Given the description of an element on the screen output the (x, y) to click on. 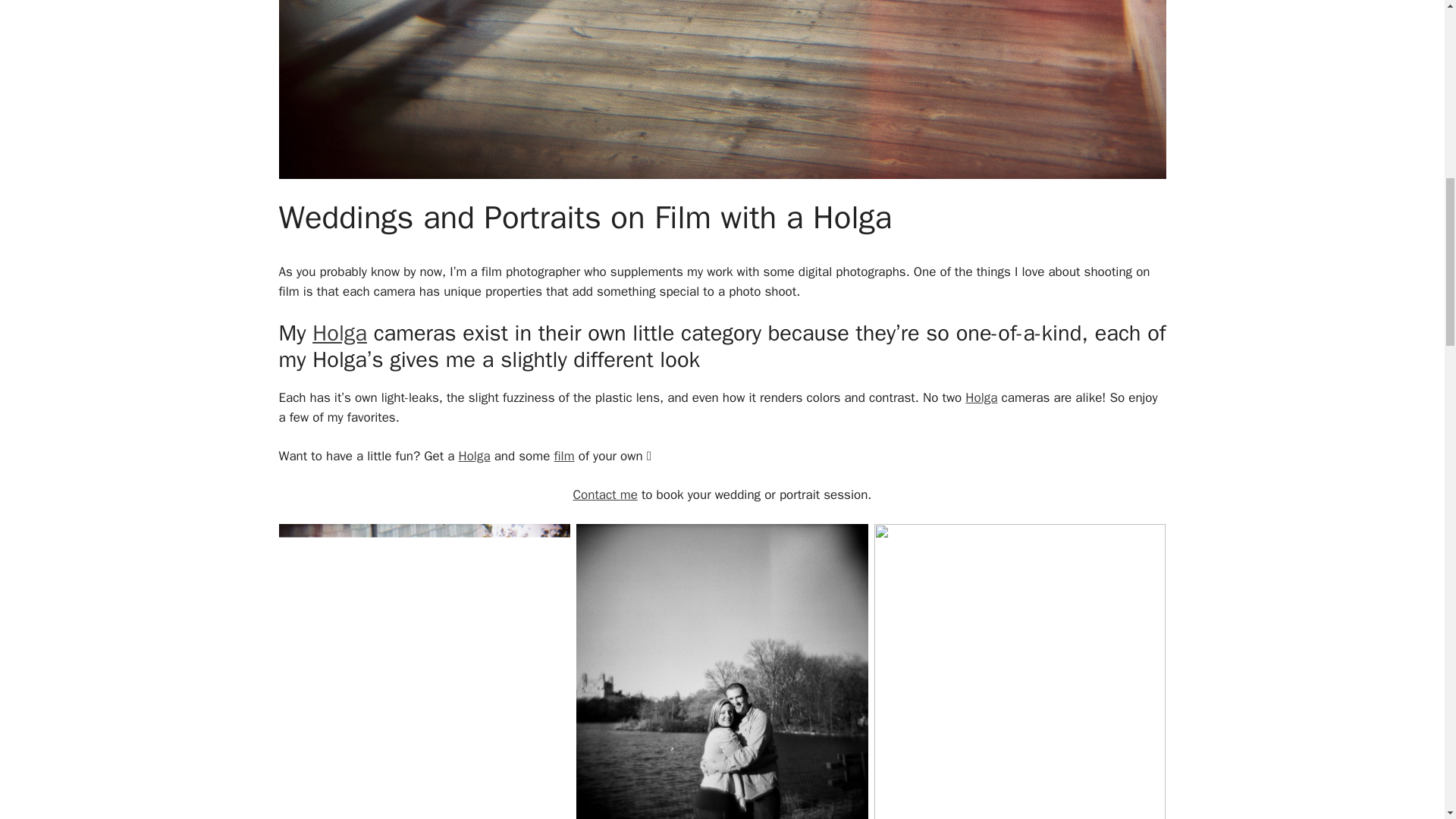
Holga (473, 455)
Holga (981, 397)
Holga (339, 333)
Scroll back to top (1406, 720)
Contact me (605, 494)
film (563, 455)
